Given the description of an element on the screen output the (x, y) to click on. 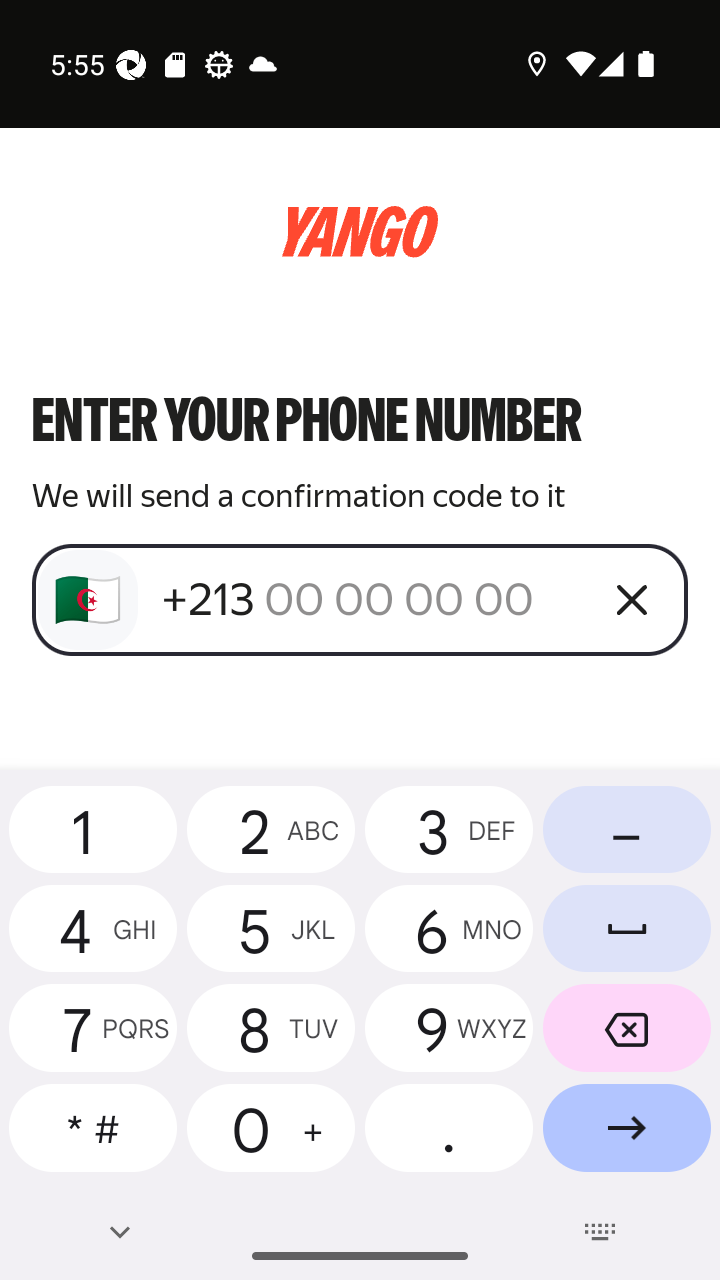
logo (359, 231)
🇩🇿 (88, 600)
+213 (372, 599)
